Given the description of an element on the screen output the (x, y) to click on. 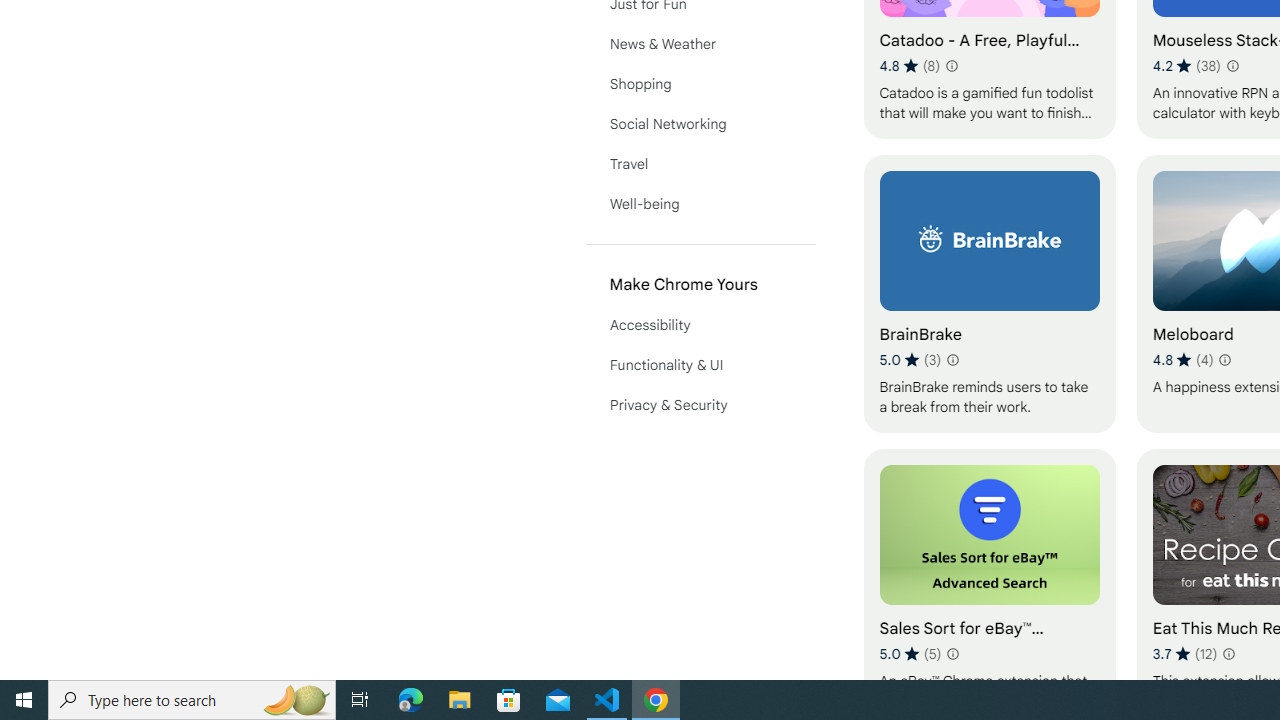
Learn more about results and reviews "Meloboard" (1224, 359)
Average rating 4.8 out of 5 stars. 8 ratings. (909, 66)
Social Networking (700, 123)
BrainBrake (989, 293)
Average rating 5 out of 5 stars. 3 ratings. (910, 359)
Shopping (700, 83)
Accessibility (700, 324)
Average rating 3.7 out of 5 stars. 12 ratings. (1185, 653)
Learn more about results and reviews "BrainBrake" (951, 359)
Average rating 4.8 out of 5 stars. 4 ratings. (1182, 359)
News & Weather (700, 43)
Functionality & UI (700, 364)
